Given the description of an element on the screen output the (x, y) to click on. 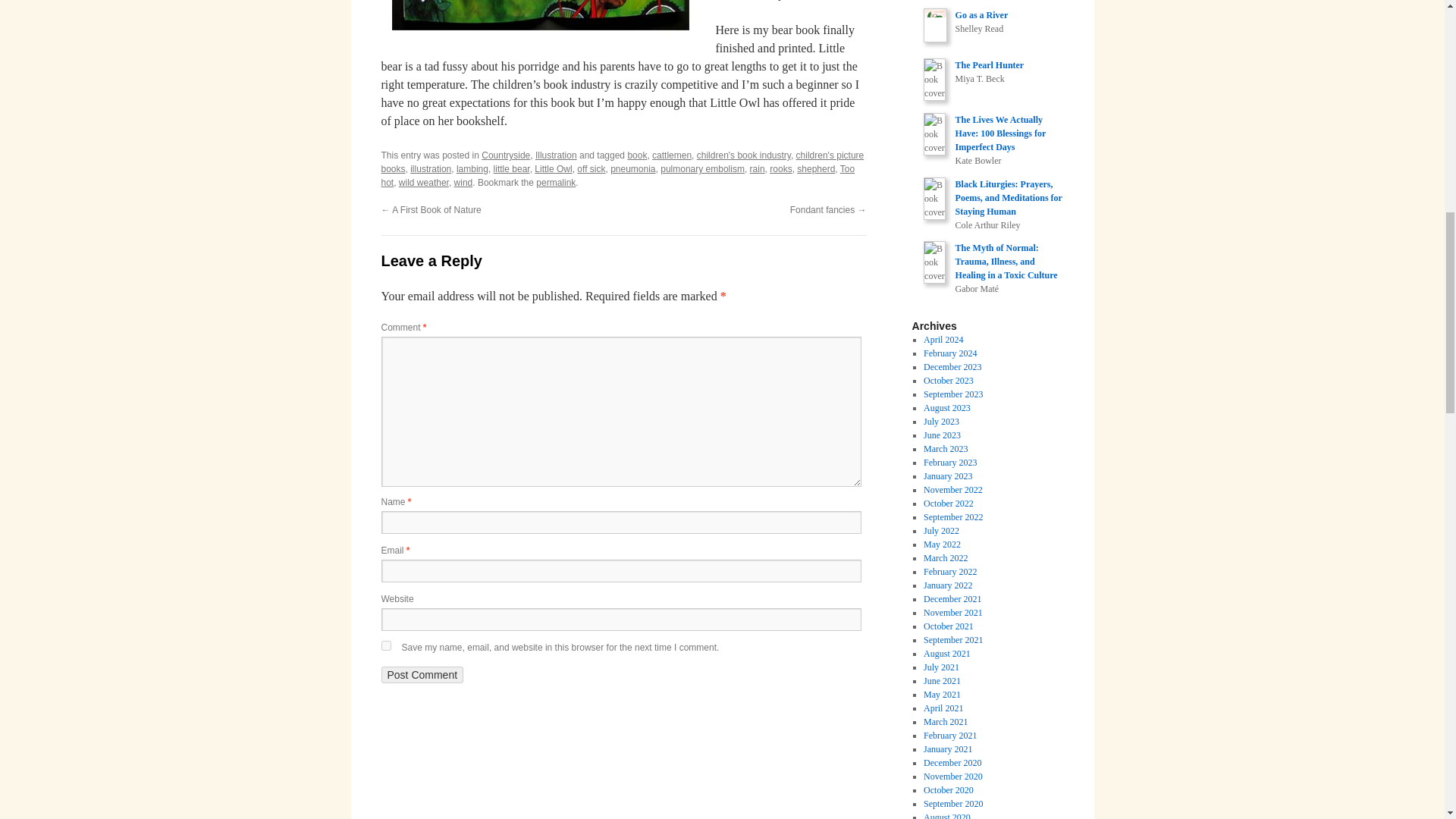
Little Owl (553, 168)
Illustration (555, 154)
Permalink to A little book (555, 182)
wind (463, 182)
Post Comment (421, 674)
permalink (555, 182)
book (636, 154)
pneumonia (632, 168)
rooks (781, 168)
off sick (590, 168)
lambing (472, 168)
Too hot (617, 175)
little bear (511, 168)
yes (385, 645)
Countryside (505, 154)
